Given the description of an element on the screen output the (x, y) to click on. 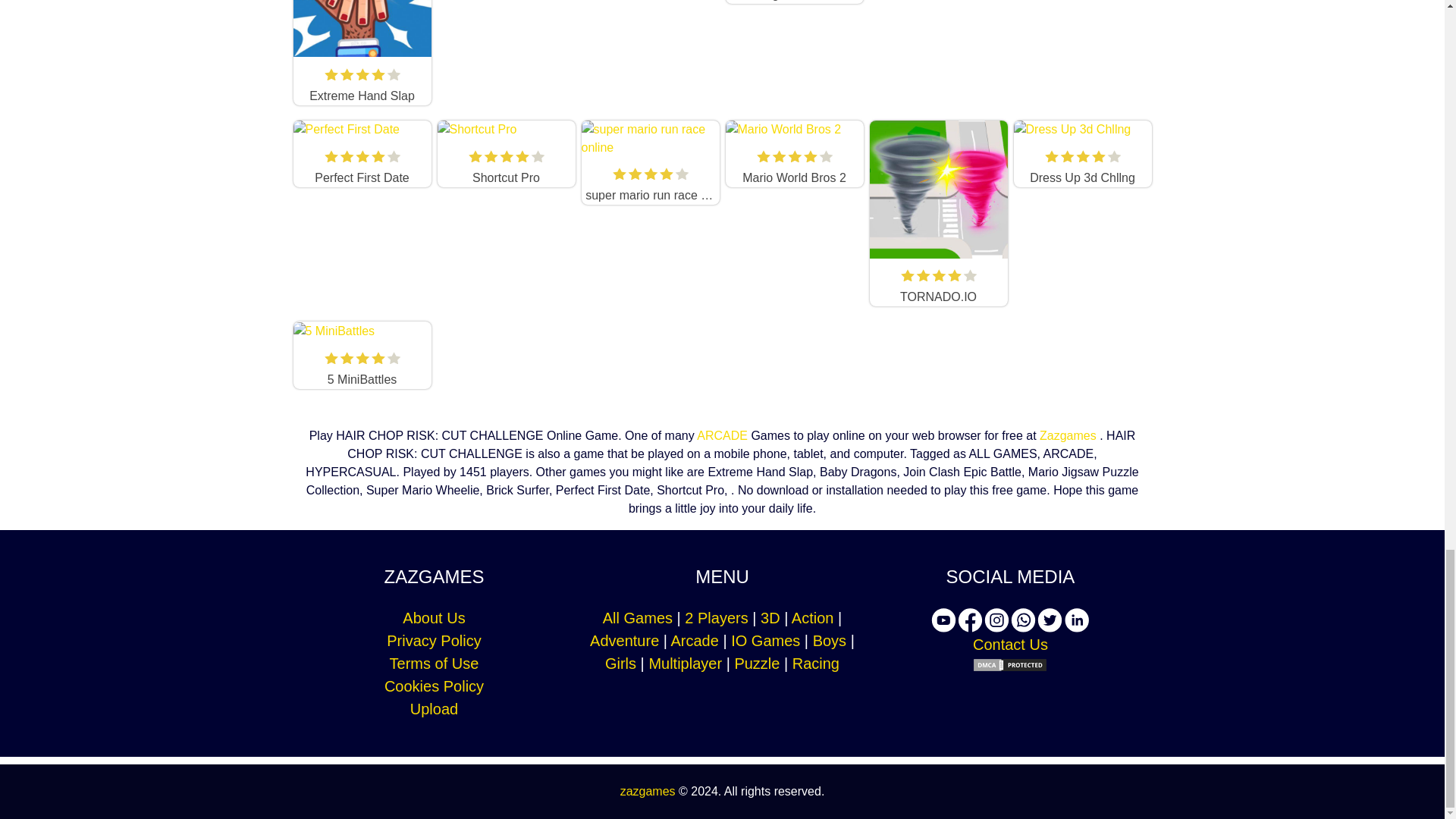
DMCA.com Protection Status (1010, 664)
